Given the description of an element on the screen output the (x, y) to click on. 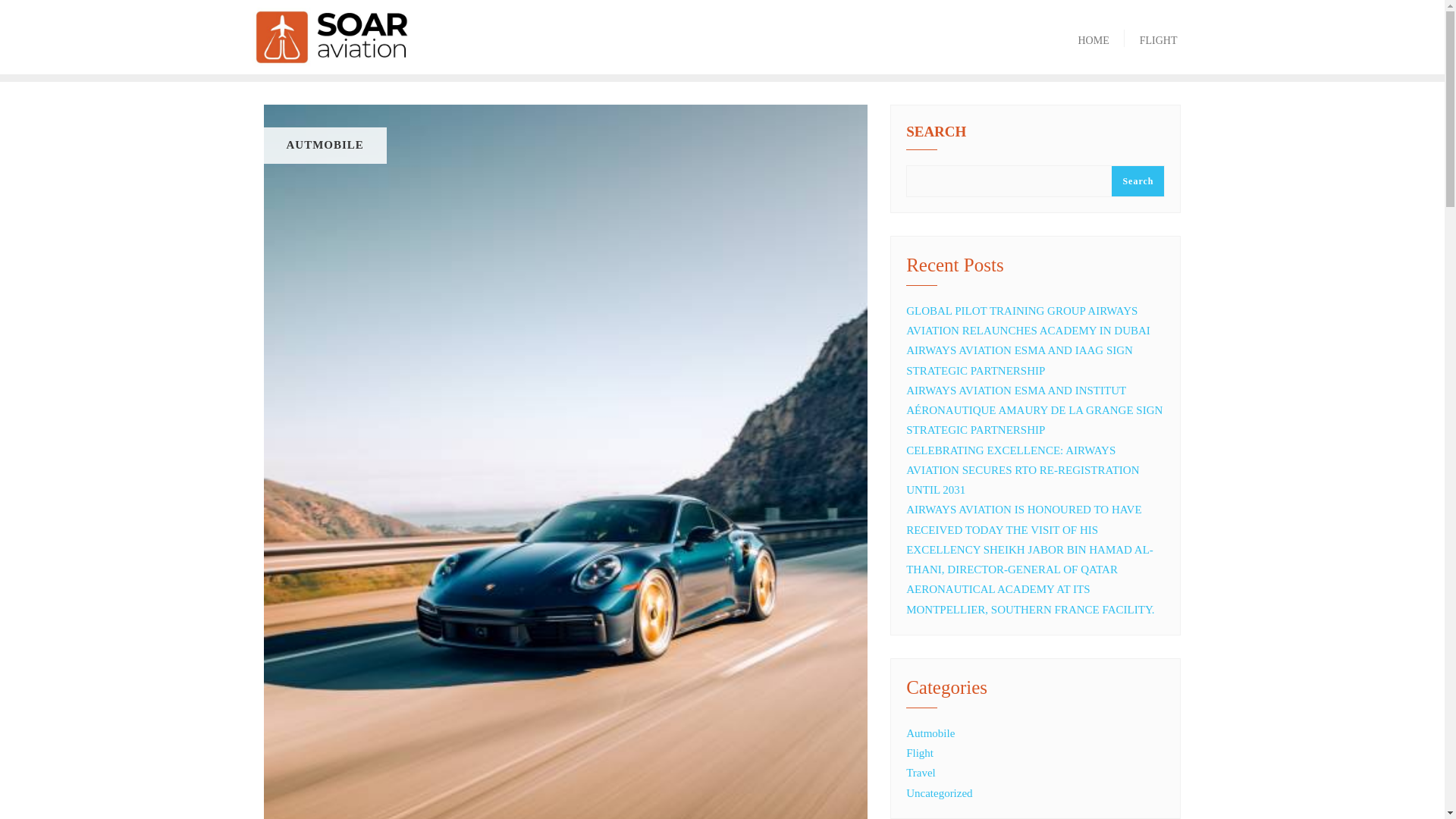
AIRWAYS AVIATION ESMA AND IAAG SIGN STRATEGIC PARTNERSHIP (1018, 359)
Uncategorized (938, 793)
FLIGHT (1158, 36)
Autmobile (930, 733)
Travel (920, 772)
Flight (919, 752)
Search (1137, 181)
HOME (1093, 36)
